Given the description of an element on the screen output the (x, y) to click on. 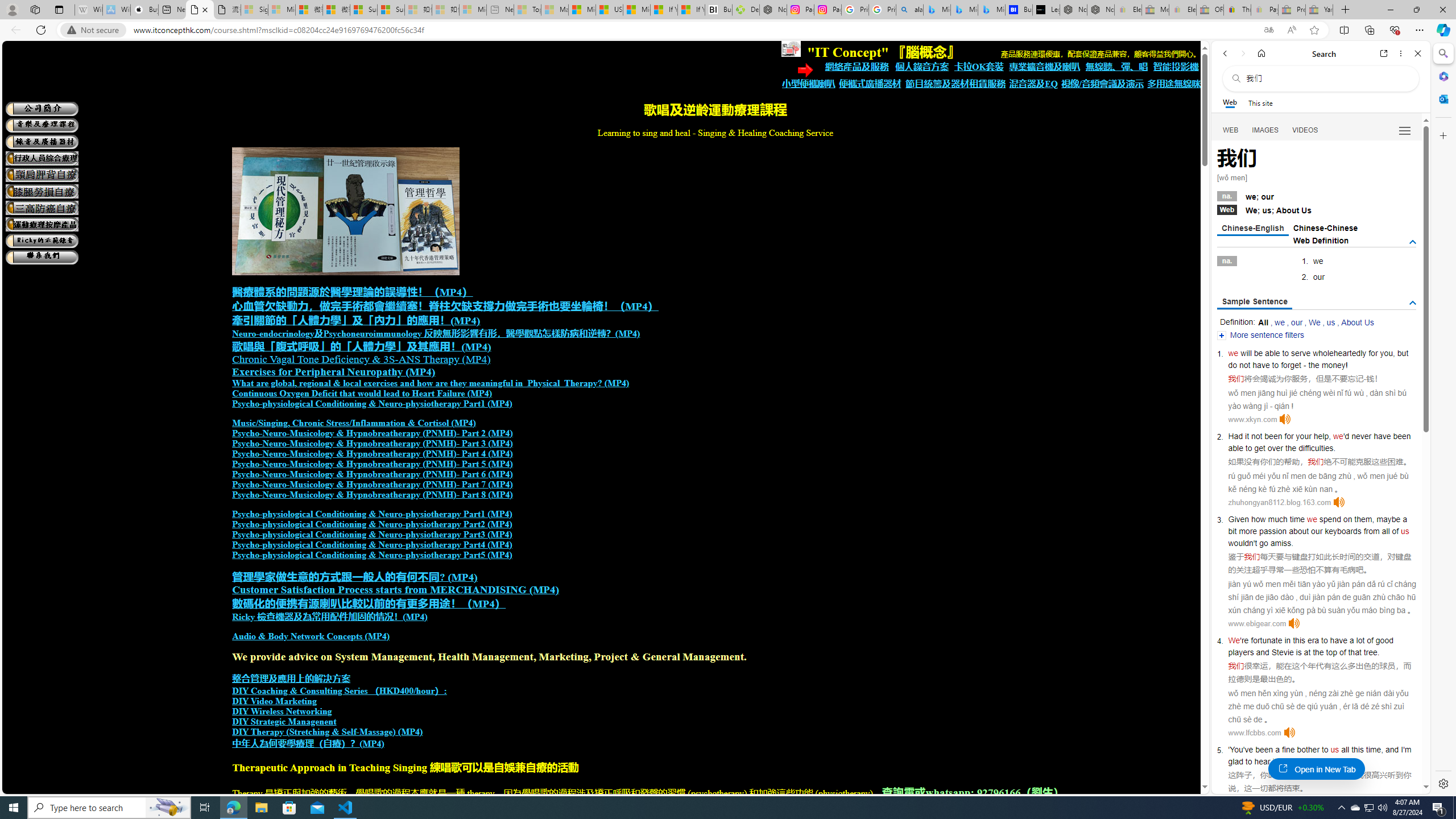
have (1337, 640)
Wikipedia - Sleeping (88, 9)
Not secure (95, 29)
